Given the description of an element on the screen output the (x, y) to click on. 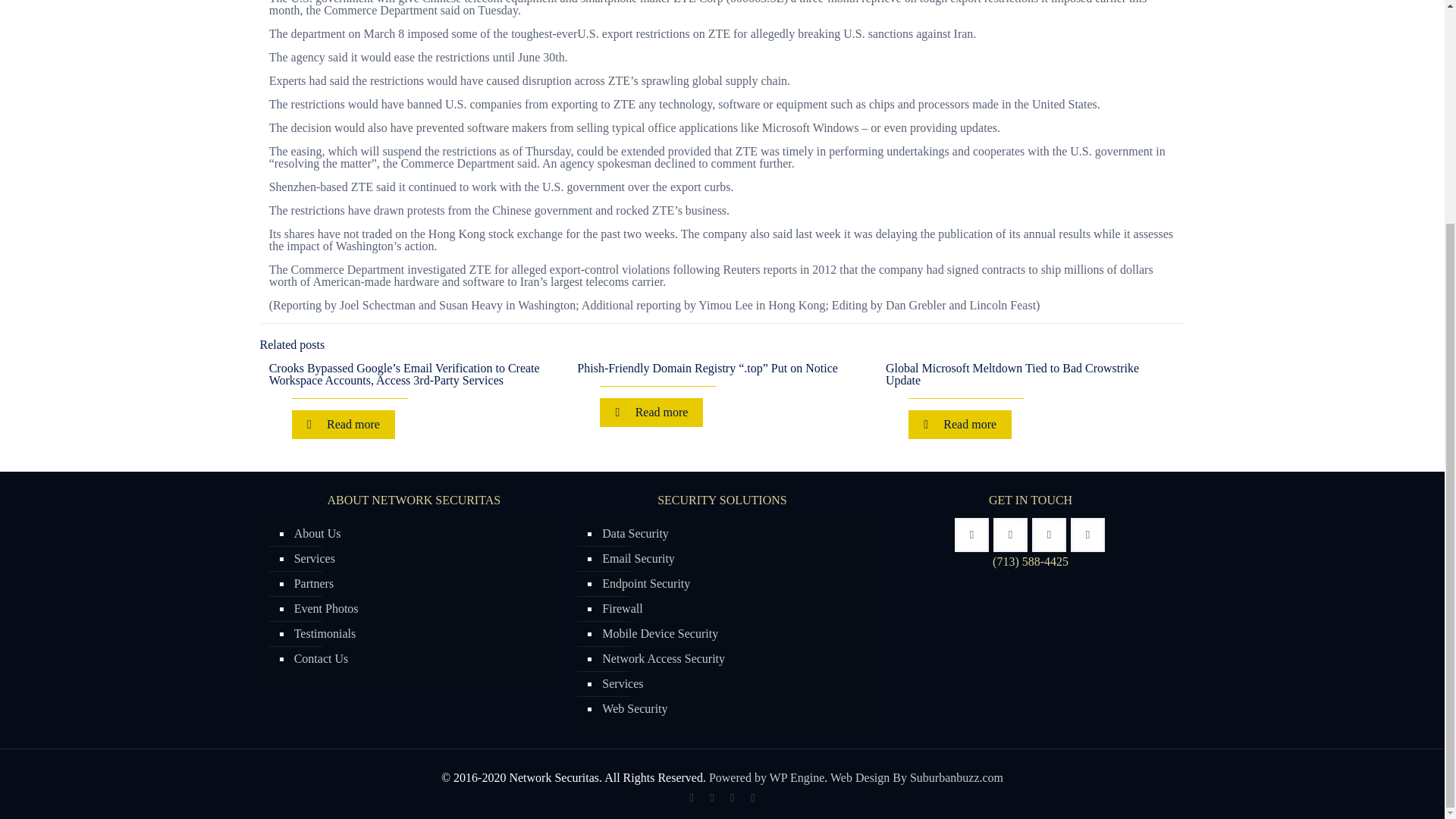
Event Photos (421, 609)
Services (421, 559)
Facebook (690, 797)
LinkedIn (731, 797)
Read more (651, 412)
Pinterest (752, 797)
Twitter (711, 797)
About Us (421, 534)
Partners (421, 584)
Read more (343, 424)
Global Microsoft Meltdown Tied to Bad Crowstrike Update (1011, 373)
Read more (959, 424)
